Given the description of an element on the screen output the (x, y) to click on. 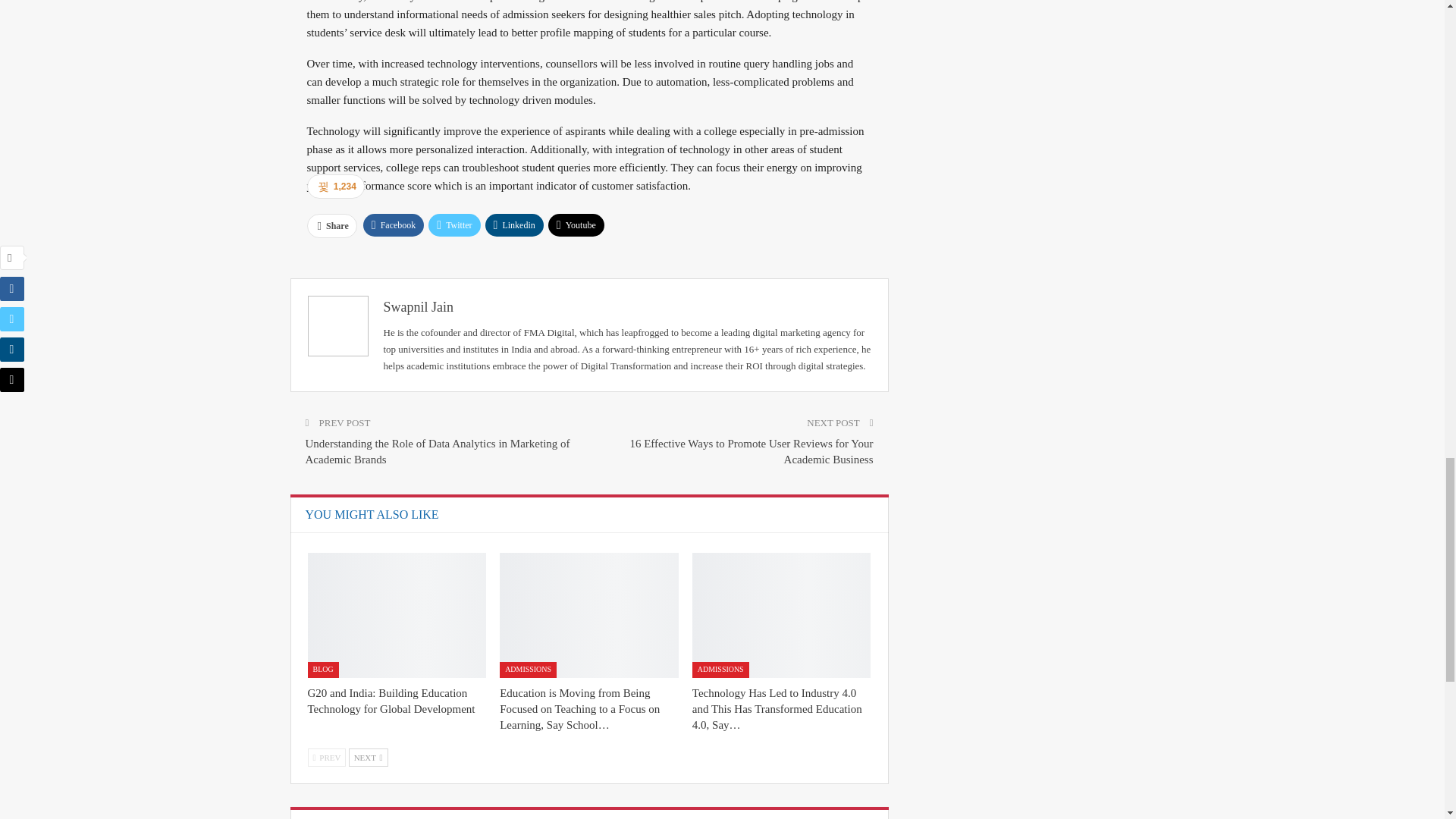
Previous (326, 757)
Next (368, 757)
